Given the description of an element on the screen output the (x, y) to click on. 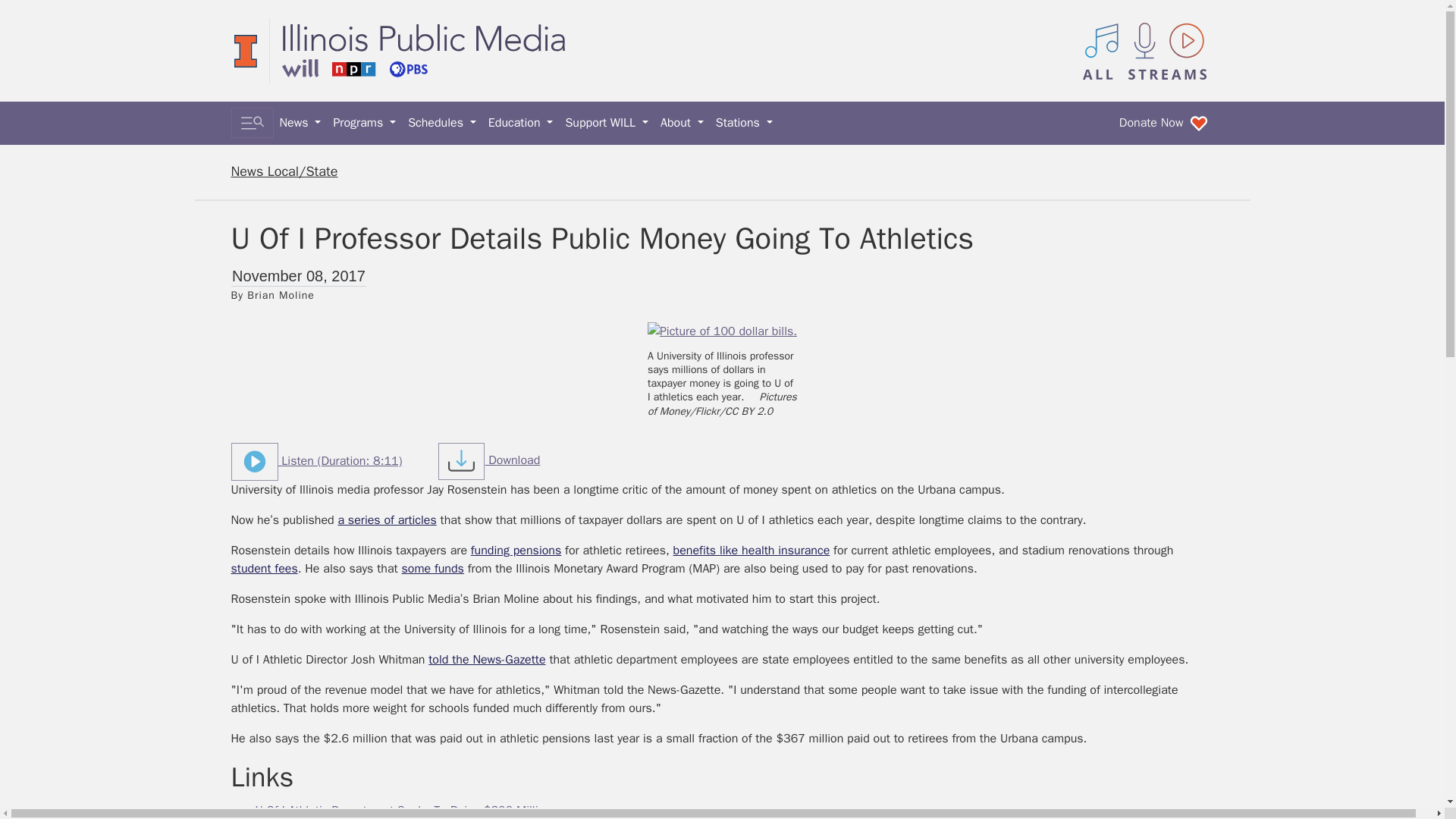
Programs (363, 122)
All IPM content streams (1144, 50)
Toggle search (251, 122)
Education (520, 122)
Schedules (441, 122)
News (299, 122)
Support WILL (606, 122)
